Given the description of an element on the screen output the (x, y) to click on. 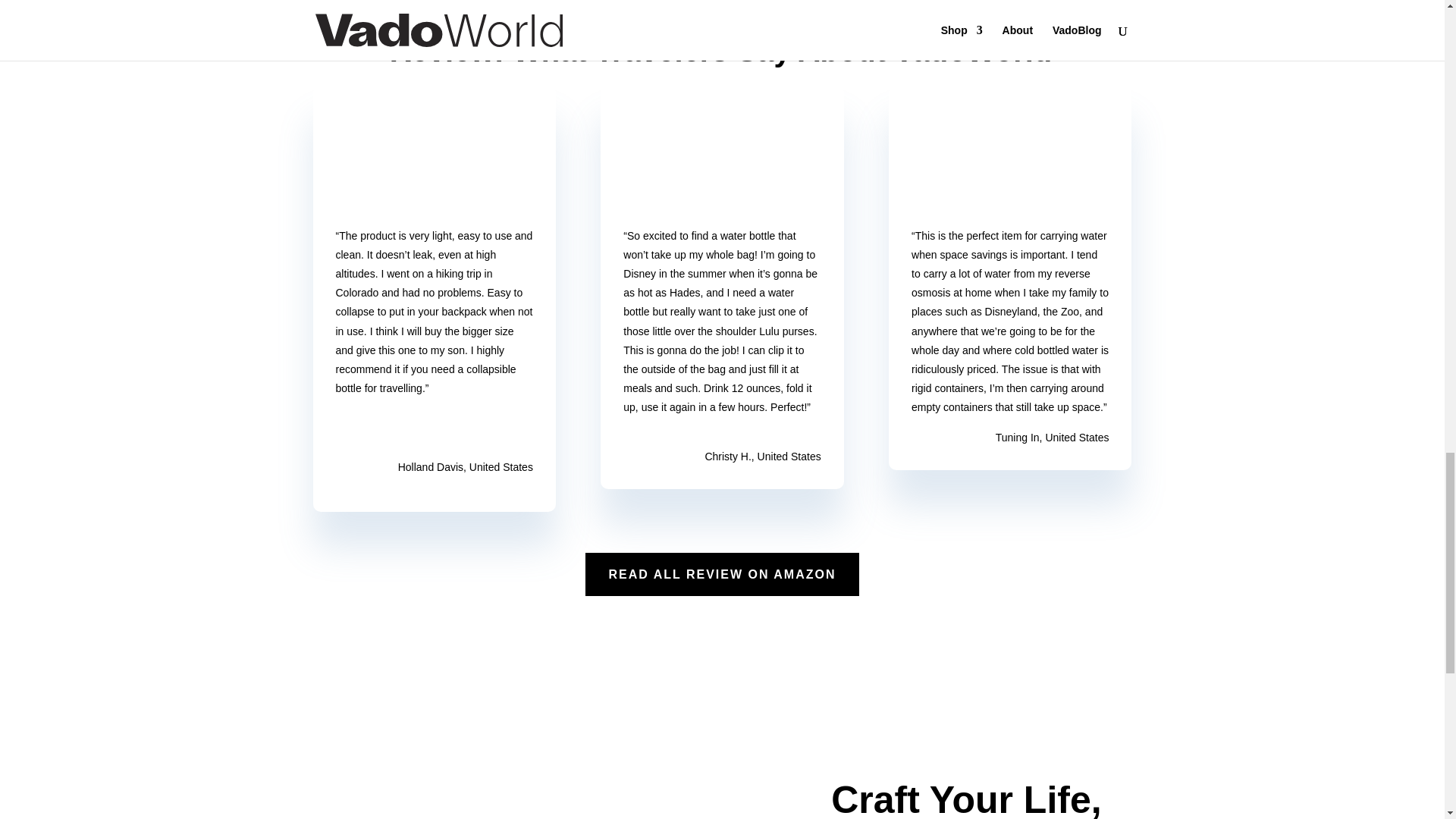
READ ALL REVIEW ON AMAZON (722, 574)
Homepage - New 4 Homepage - New (384, 157)
Homepage - New 4 Homepage - New (961, 157)
Homepage - New 4 Homepage - New (673, 157)
